Given the description of an element on the screen output the (x, y) to click on. 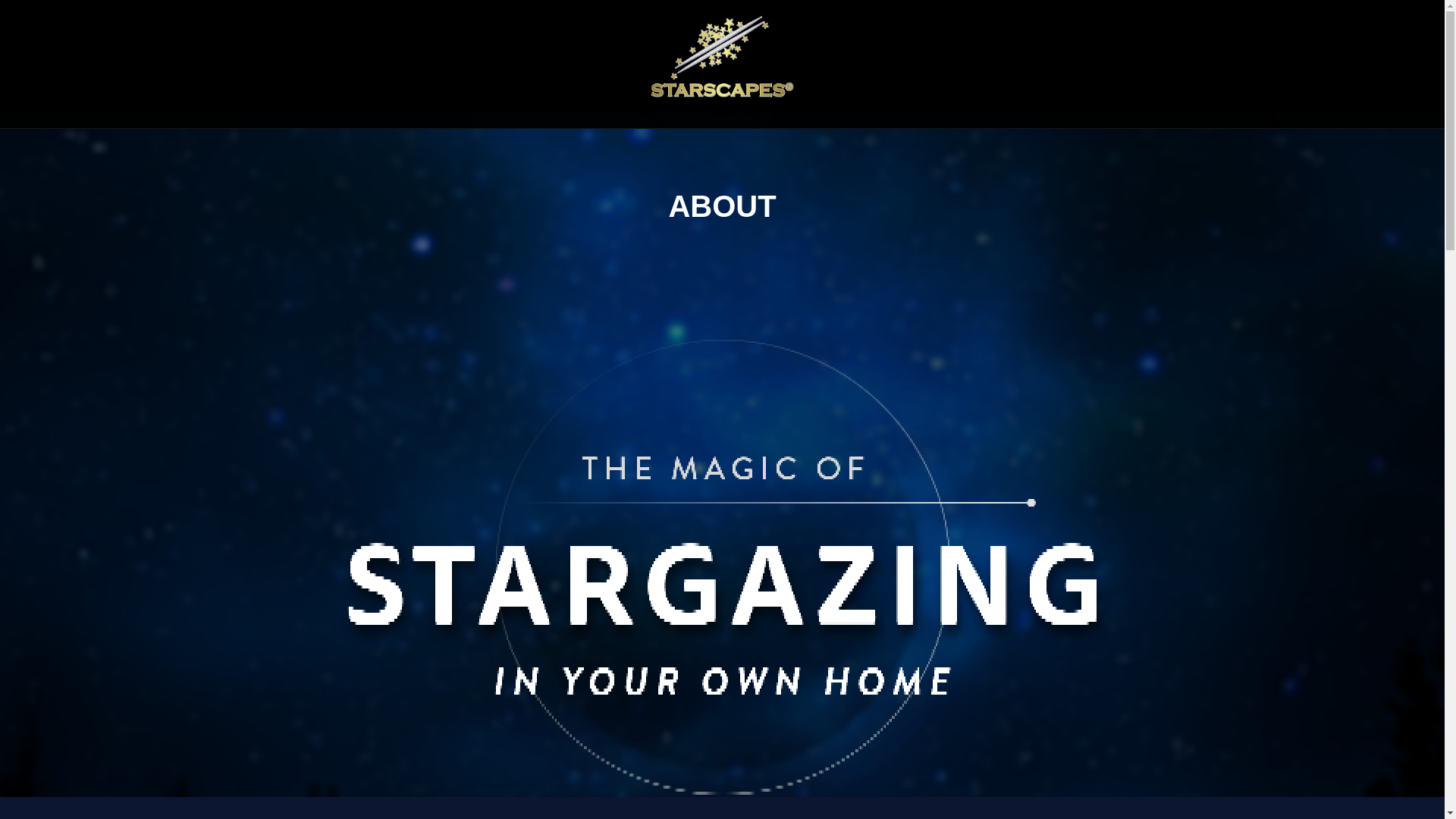
Voyager Industries LLC (721, 56)
